Given the description of an element on the screen output the (x, y) to click on. 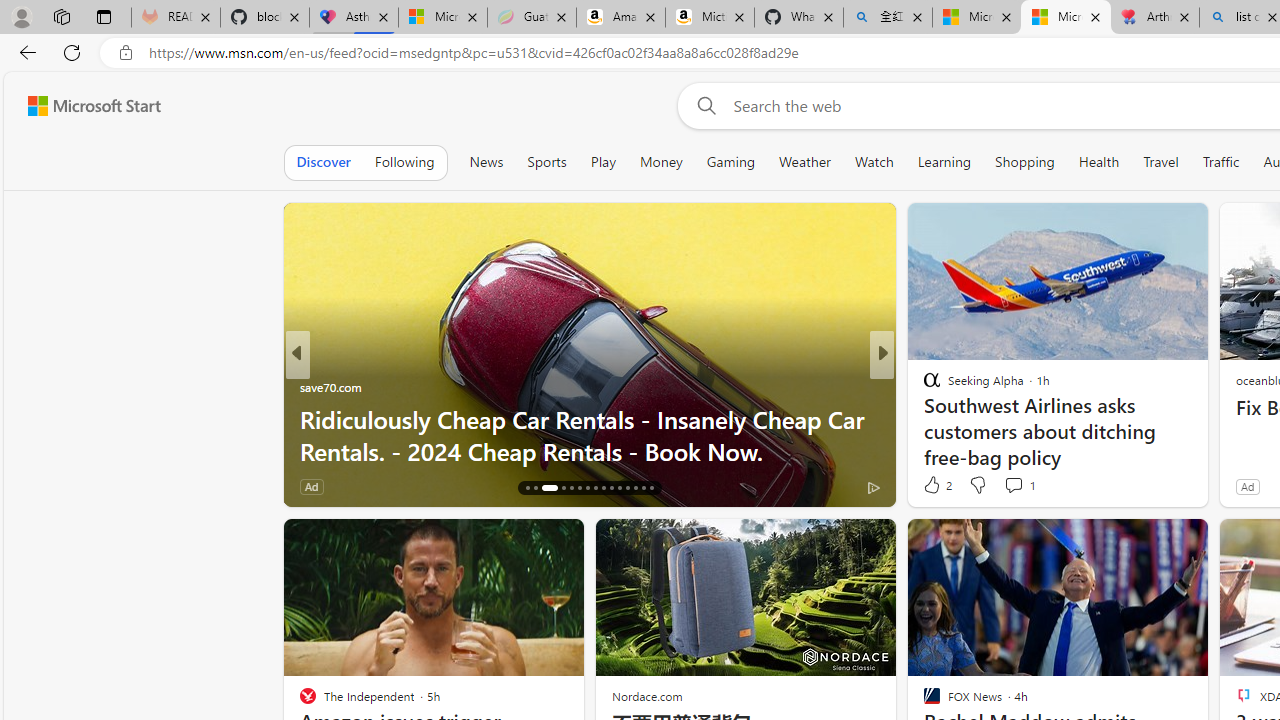
Microsoft Start (1065, 17)
The Conversation (923, 418)
Weather (804, 162)
View comments 1 Comment (1019, 484)
View comments 31 Comment (413, 486)
View comments 9 Comment (1014, 485)
Following (404, 161)
Health (1098, 162)
Weather (804, 161)
AutomationID: tab-26 (619, 487)
View comments 7 Comment (1026, 486)
51 Like (934, 486)
Allrecipes (923, 386)
The Washington Post (923, 386)
View comments 31 Comment (404, 485)
